Given the description of an element on the screen output the (x, y) to click on. 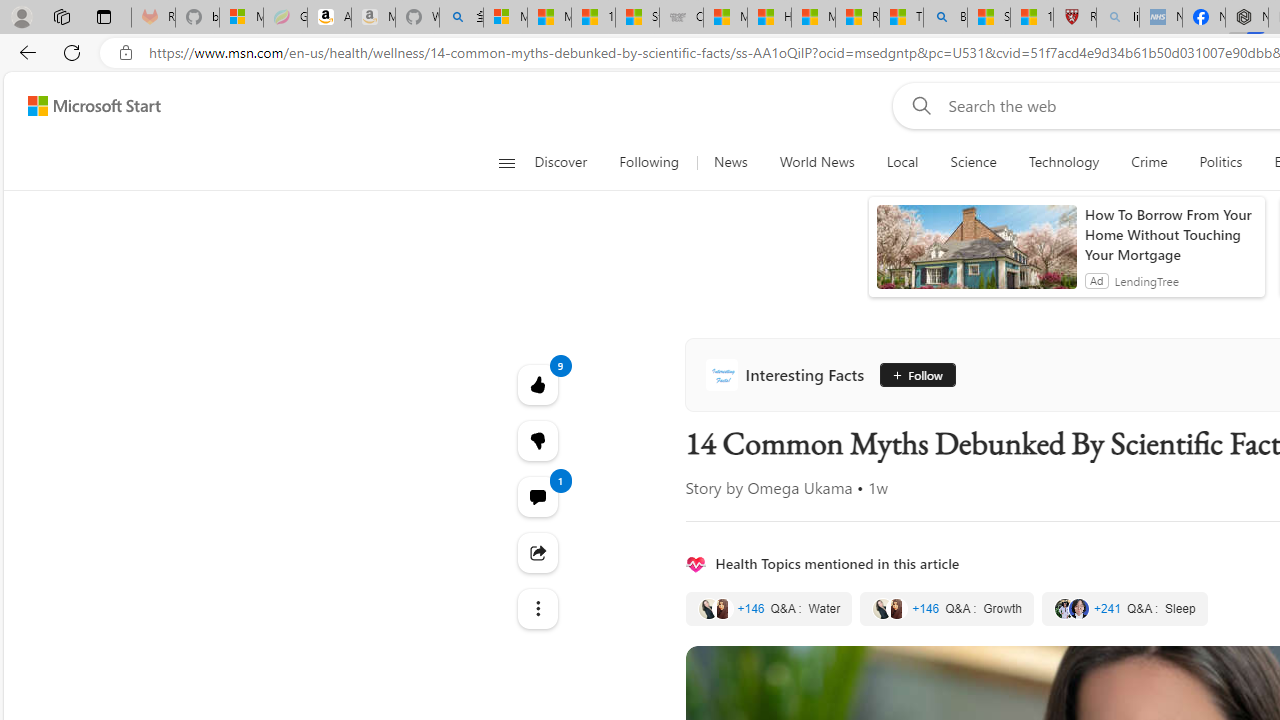
Sleep (1124, 608)
Class: at-item (537, 609)
Robert H. Shmerling, MD - Harvard Health (1074, 17)
Interesting Facts (788, 374)
Water (768, 608)
